Given the description of an element on the screen output the (x, y) to click on. 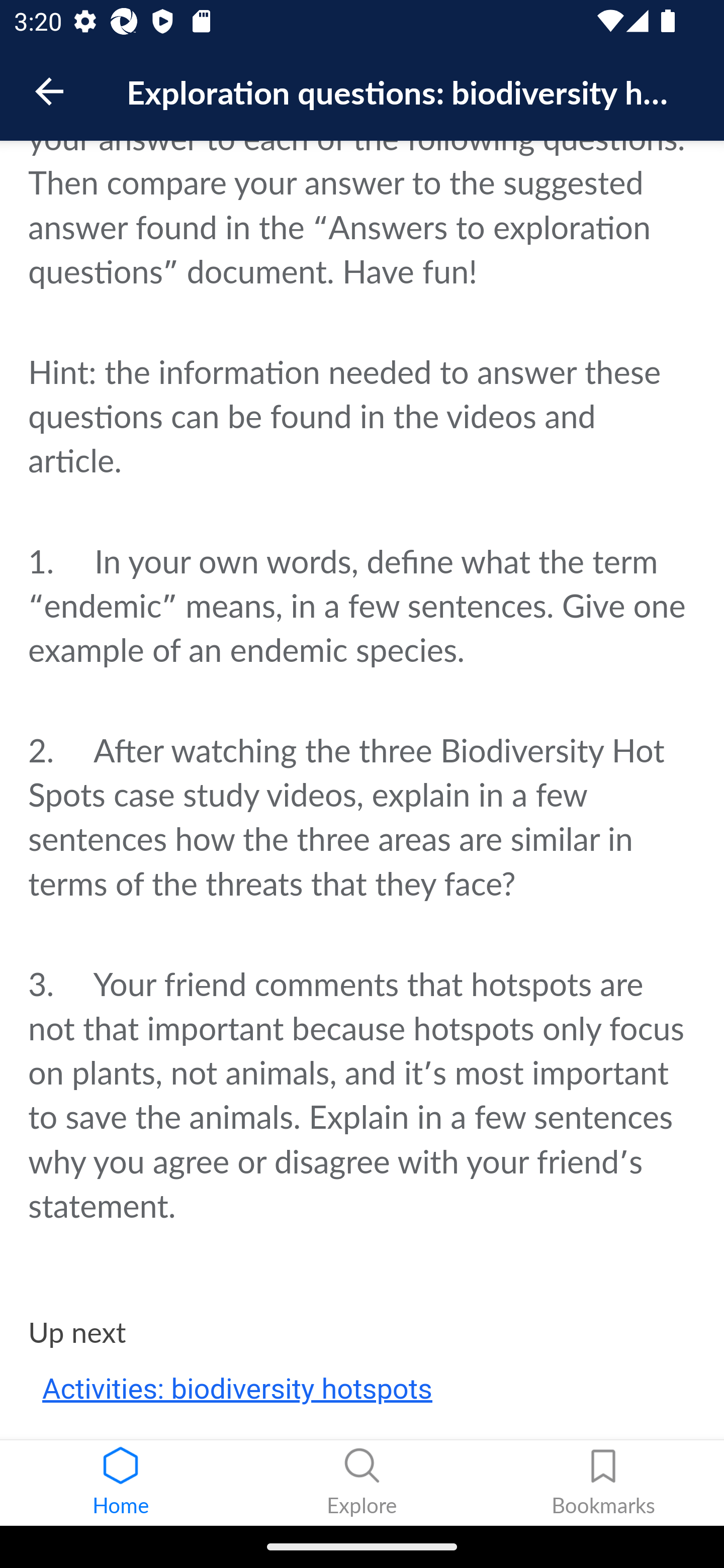
Navigate up (49, 91)
Activities: biodiversity hotspots (237, 1390)
Home (120, 1482)
Explore (361, 1482)
Bookmarks (603, 1482)
